Given the description of an element on the screen output the (x, y) to click on. 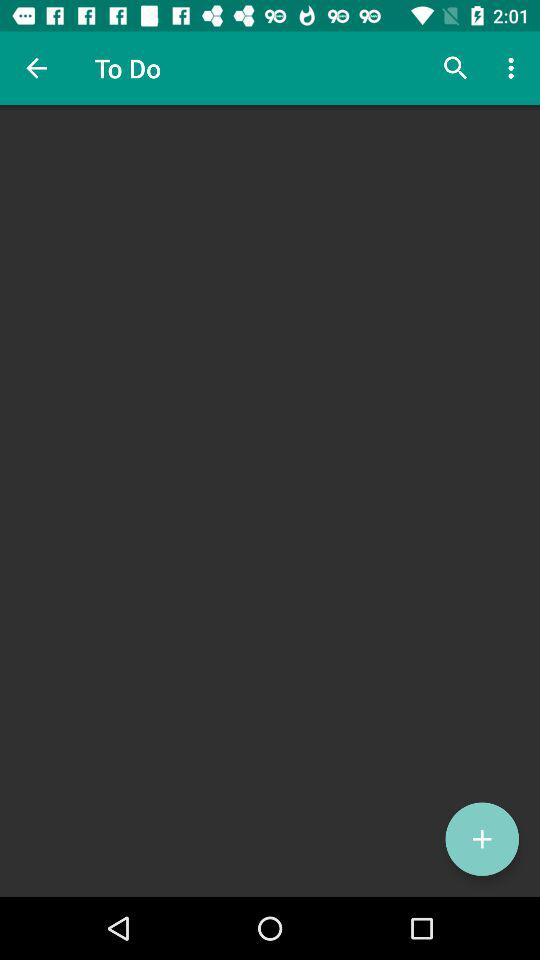
select the item next to the to do item (455, 67)
